Given the description of an element on the screen output the (x, y) to click on. 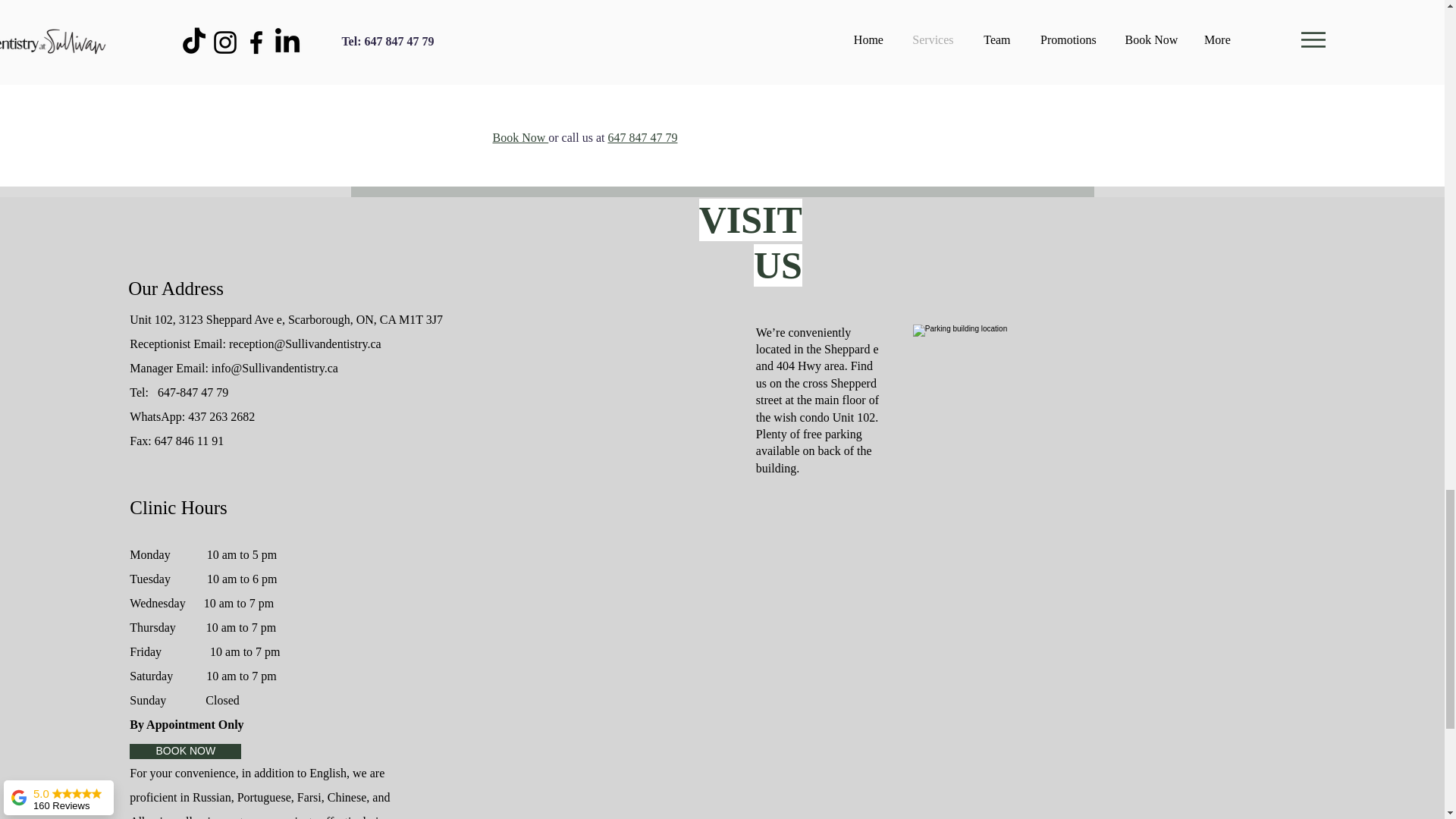
Manager Email:  (170, 367)
Book Now  (520, 137)
